Given the description of an element on the screen output the (x, y) to click on. 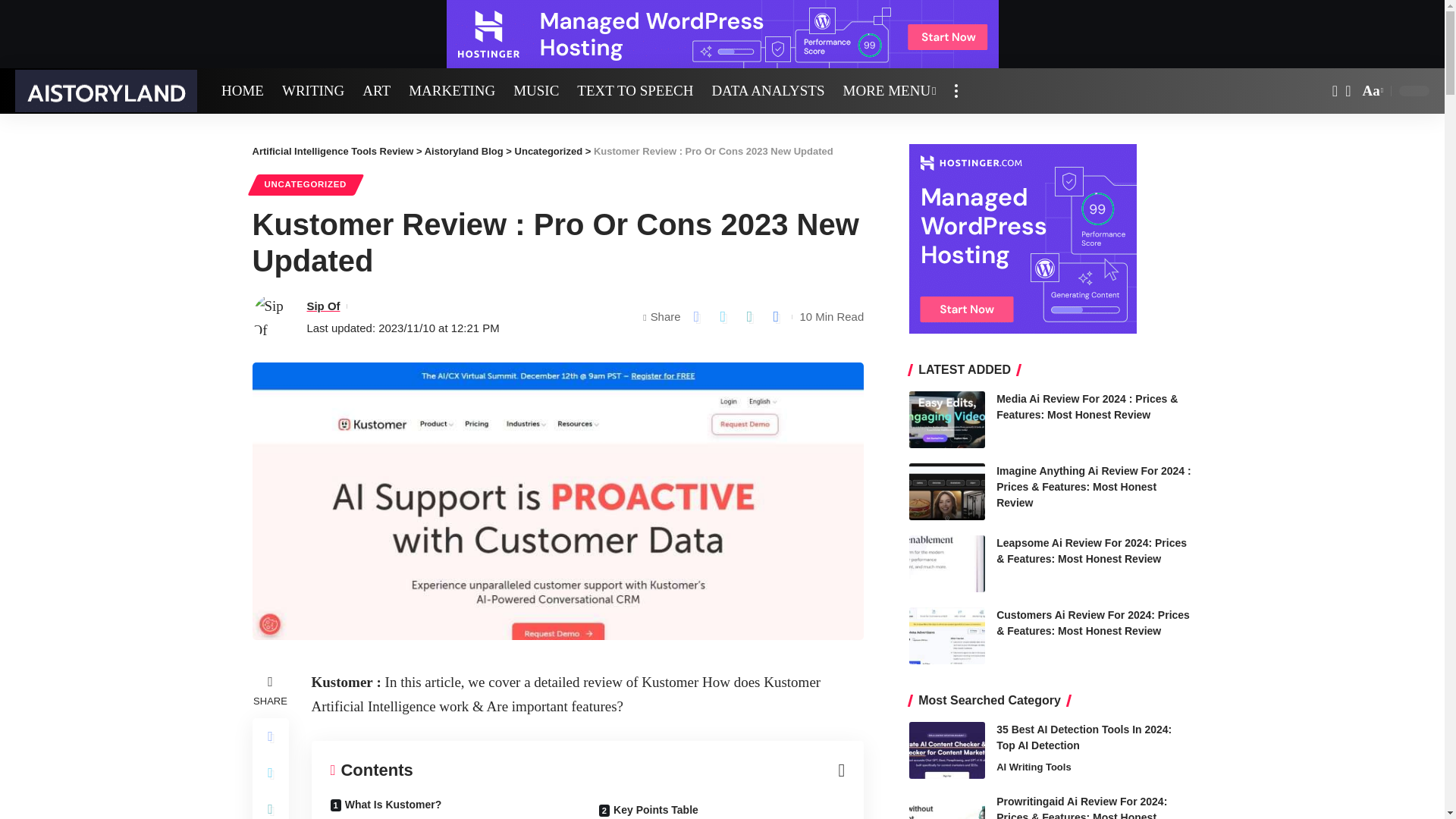
Aa (1370, 90)
MORE MENU (889, 90)
Artificial Intelligence Tools Review (105, 90)
ART (375, 90)
MARKETING (450, 90)
Go to Aistoryland Blog. (464, 151)
Go to the Uncategorized Category archives. (549, 151)
HOME (242, 90)
TEXT TO SPEECH (634, 90)
